Given the description of an element on the screen output the (x, y) to click on. 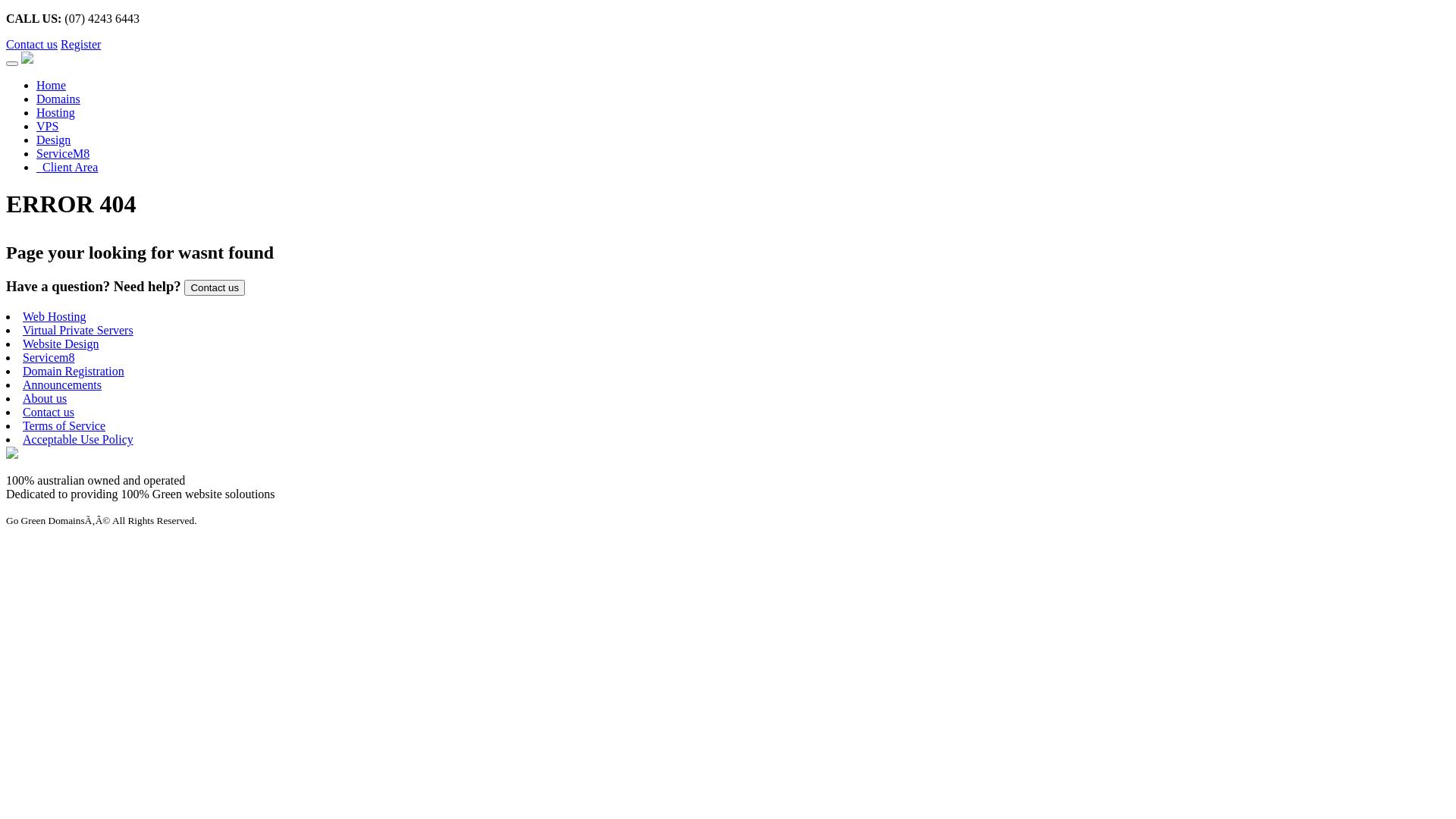
Contact us Element type: text (214, 287)
Announcements Element type: text (61, 384)
Design Element type: text (53, 139)
About us Element type: text (44, 398)
Web Hosting Element type: text (54, 316)
Terms of Service Element type: text (63, 425)
Home Element type: text (50, 84)
Virtual Private Servers Element type: text (77, 329)
Contact us Element type: text (214, 286)
Contact us Element type: text (31, 43)
Domains Element type: text (58, 98)
Website Design Element type: text (60, 343)
Hosting Element type: text (55, 112)
Domain Registration Element type: text (73, 370)
Register Element type: text (80, 43)
Contact us Element type: text (48, 411)
Servicem8 Element type: text (48, 357)
VPS Element type: text (47, 125)
Acceptable Use Policy Element type: text (77, 439)
  Client Area Element type: text (66, 166)
ServiceM8 Element type: text (62, 153)
